Given the description of an element on the screen output the (x, y) to click on. 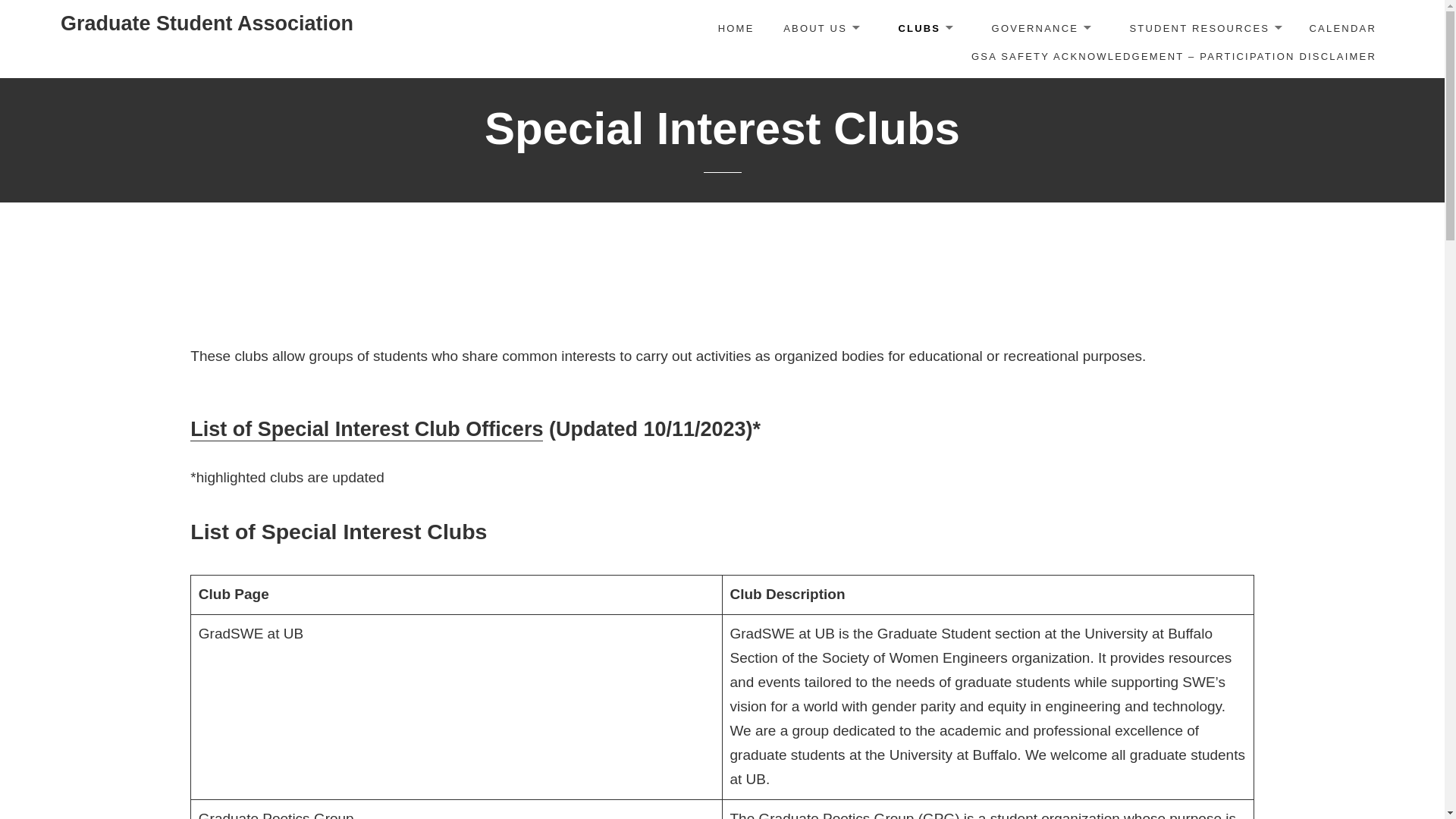
CALENDAR (1341, 29)
GOVERNANCE (1039, 29)
STUDENT RESOURCES (1204, 29)
Graduate Student Association (207, 24)
HOME (735, 29)
CLUBS (924, 29)
ABOUT US (820, 29)
List of Special Interest Club Officers (366, 429)
